Given the description of an element on the screen output the (x, y) to click on. 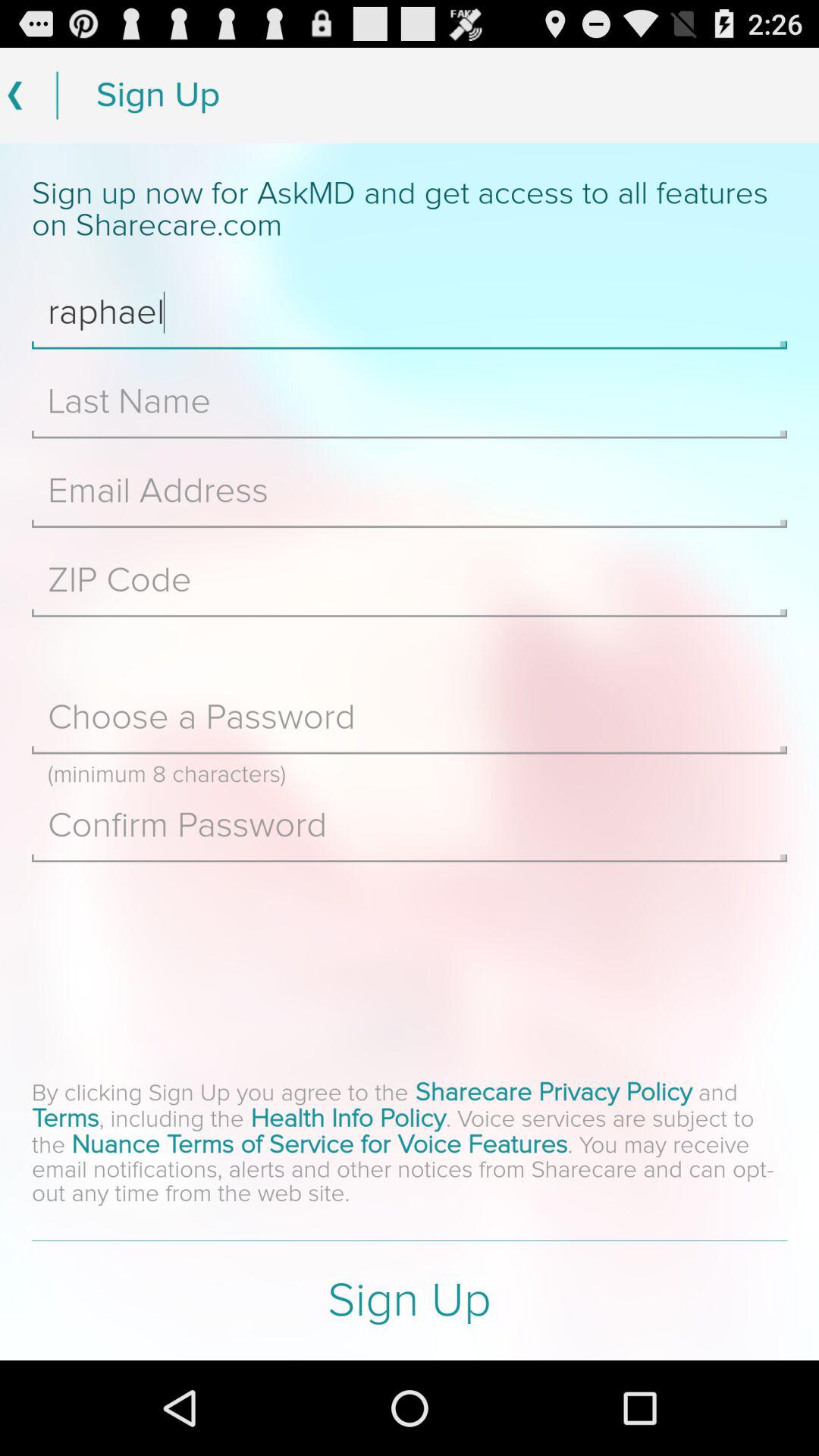
confirm password (409, 825)
